Given the description of an element on the screen output the (x, y) to click on. 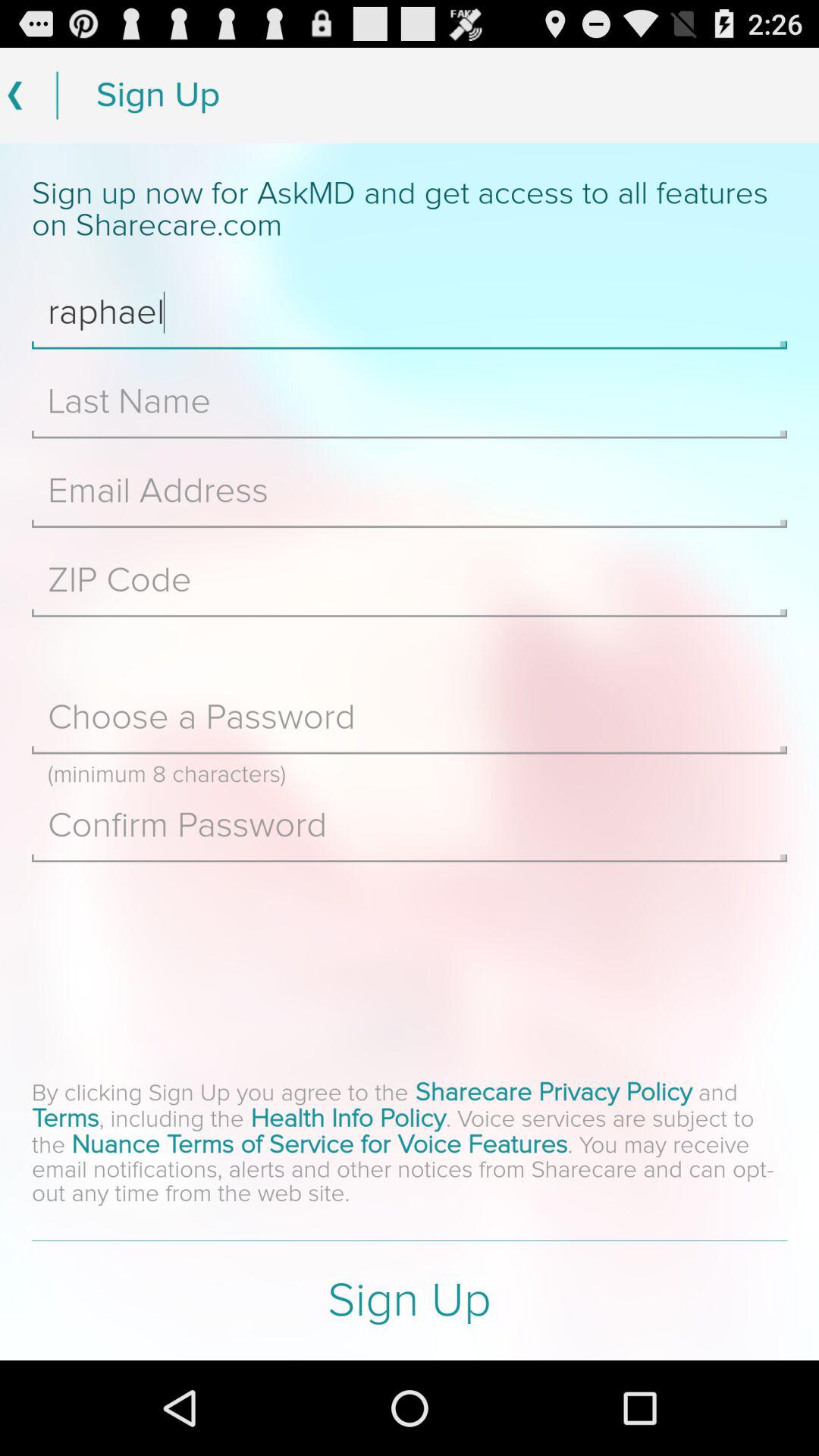
confirm password (409, 825)
